Given the description of an element on the screen output the (x, y) to click on. 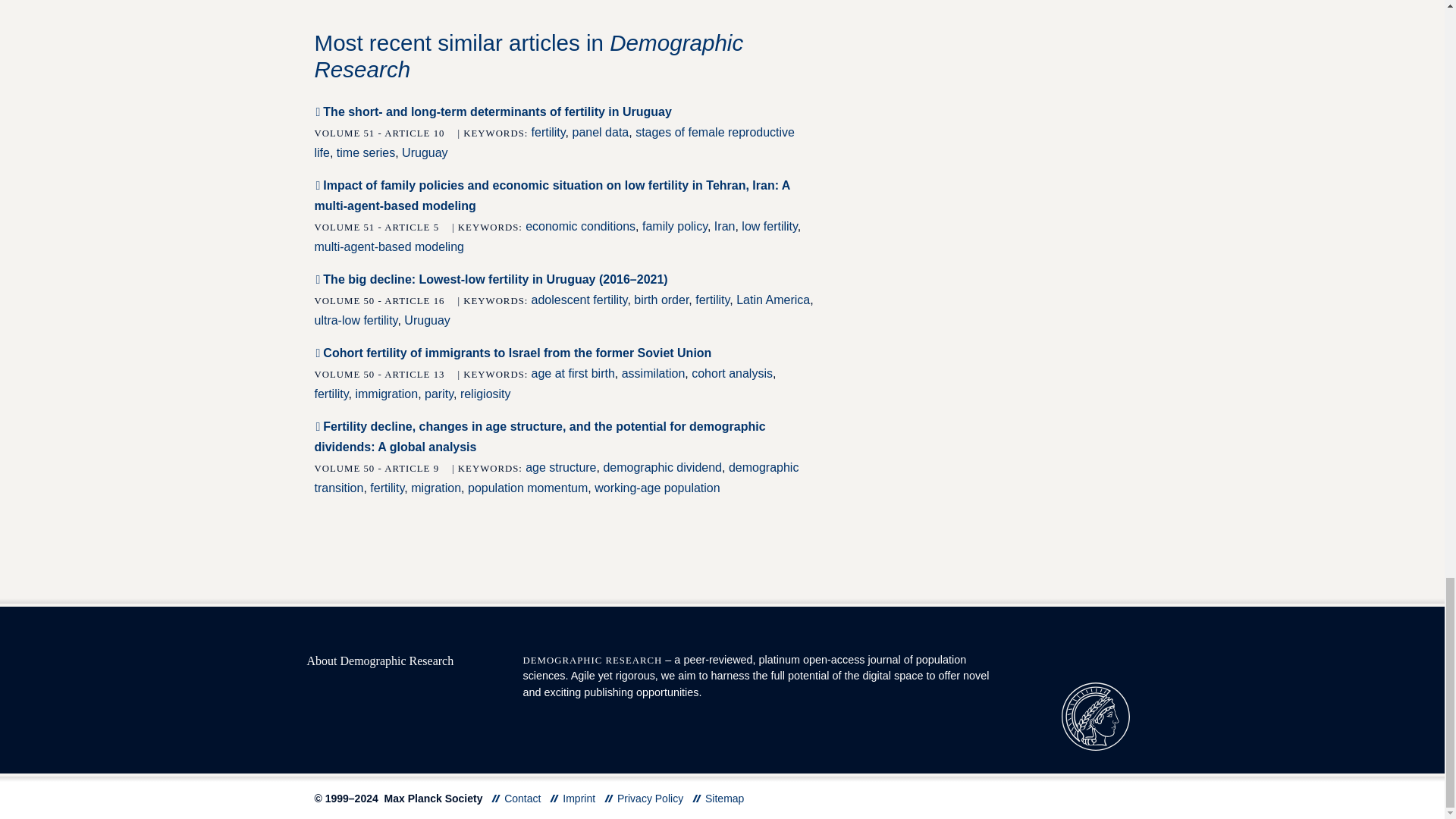
separator (554, 798)
Max Planck Society (1095, 715)
separator (496, 798)
Max Planck Society (1095, 716)
separator (608, 798)
separator (697, 798)
